Given the description of an element on the screen output the (x, y) to click on. 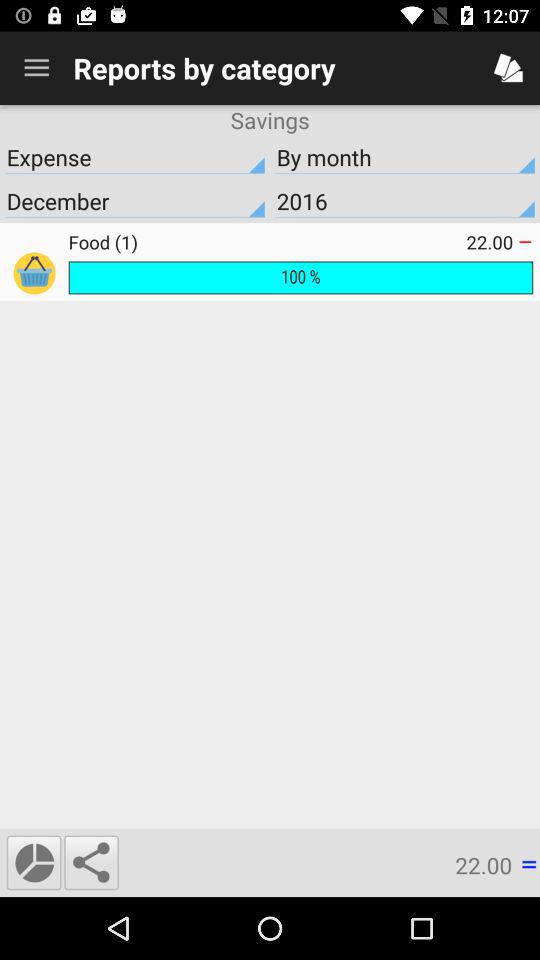
share (91, 862)
